Given the description of an element on the screen output the (x, y) to click on. 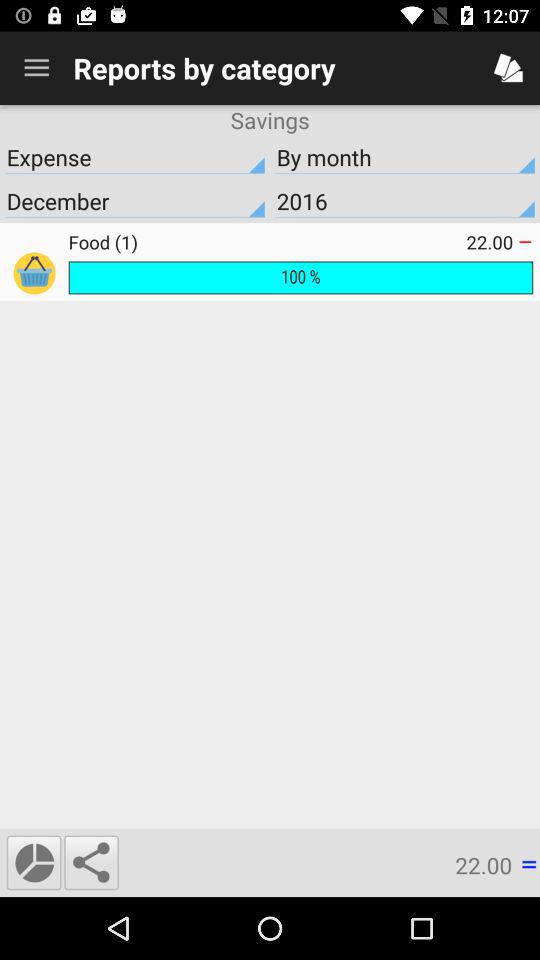
share (91, 862)
